Given the description of an element on the screen output the (x, y) to click on. 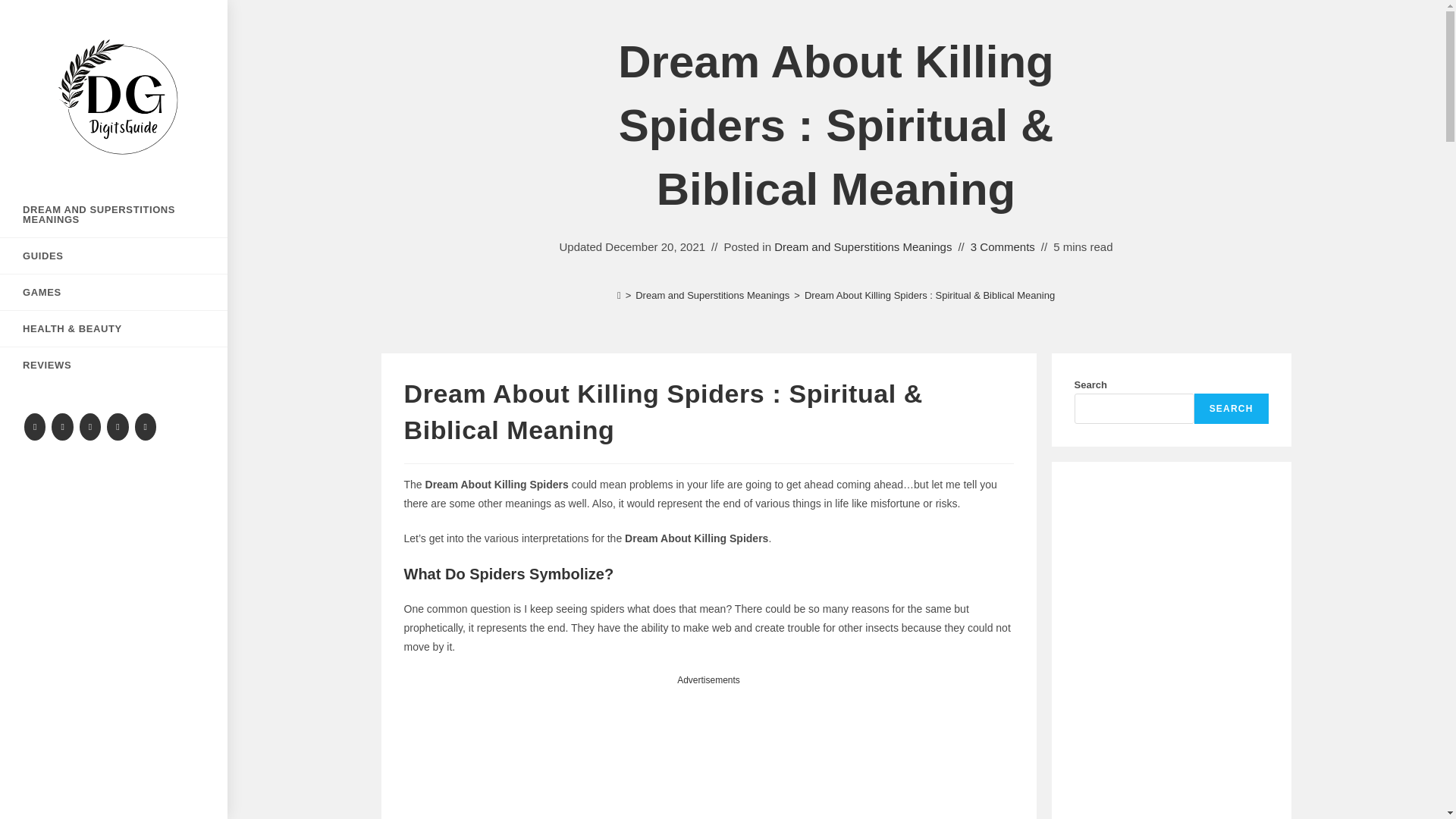
Dream and Superstitions Meanings (711, 295)
Dream and Superstitions Meanings (863, 246)
3 Comments (1003, 246)
DREAM AND SUPERSTITIONS MEANINGS (113, 213)
REVIEWS (113, 365)
GUIDES (113, 255)
GAMES (113, 292)
Advertisement (708, 754)
